Given the description of an element on the screen output the (x, y) to click on. 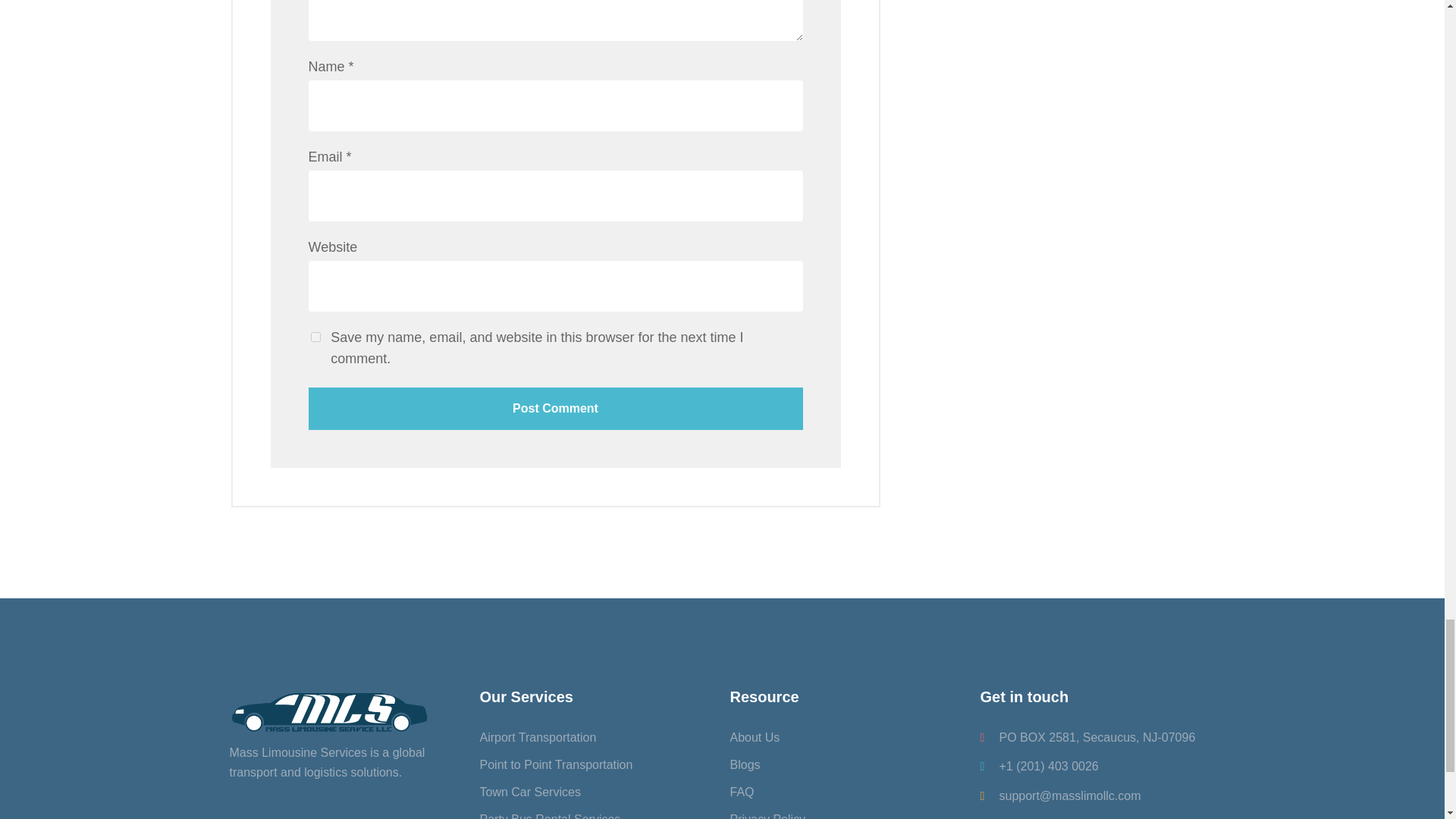
Post Comment (554, 408)
yes (315, 337)
Post Comment (554, 408)
